Given the description of an element on the screen output the (x, y) to click on. 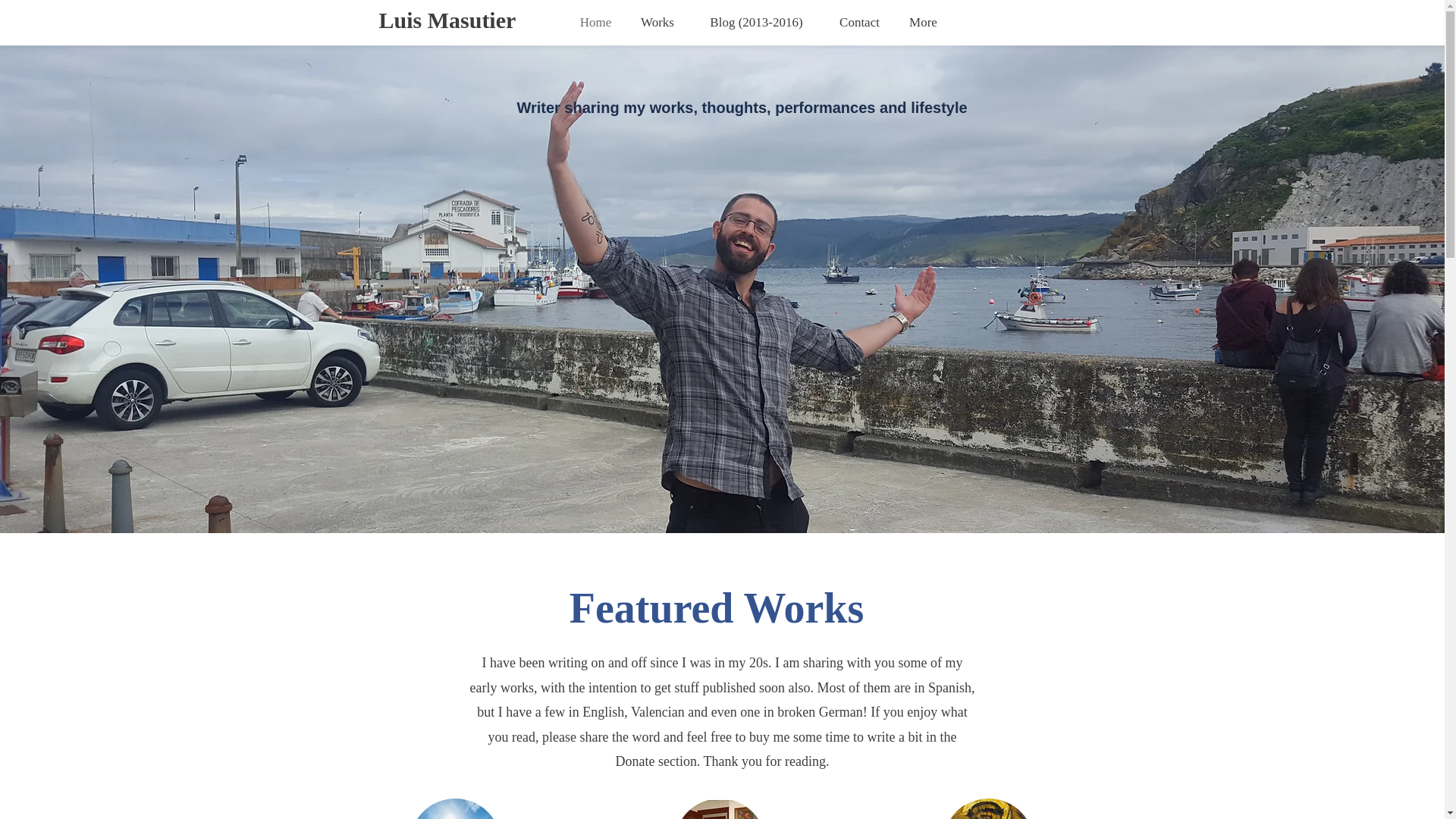
Works (657, 22)
Luis Masutier (447, 19)
Home (596, 22)
Contact (859, 22)
